Given the description of an element on the screen output the (x, y) to click on. 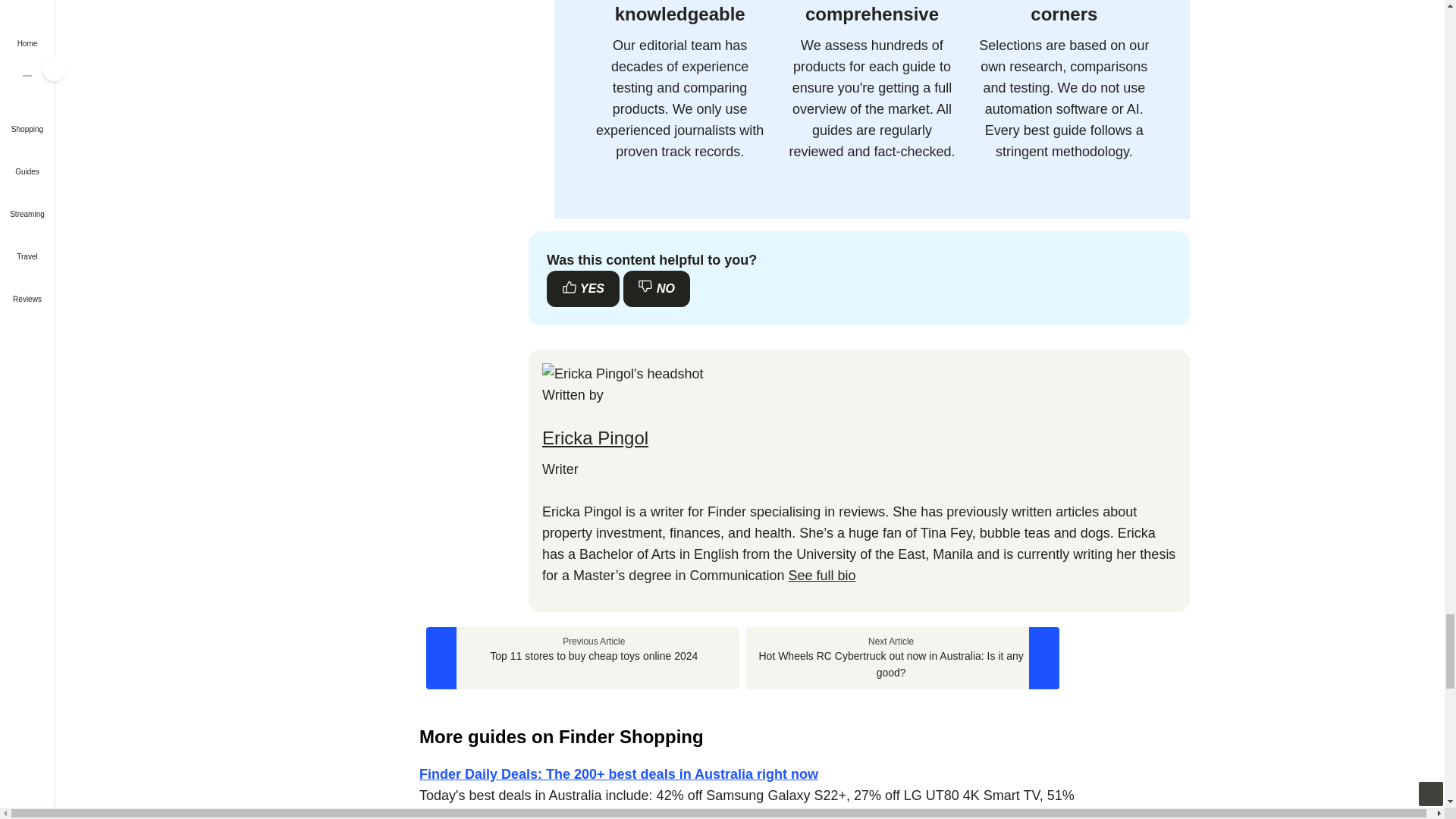
Top 11 stores to buy cheap toys online 2024 (582, 658)
